Given the description of an element on the screen output the (x, y) to click on. 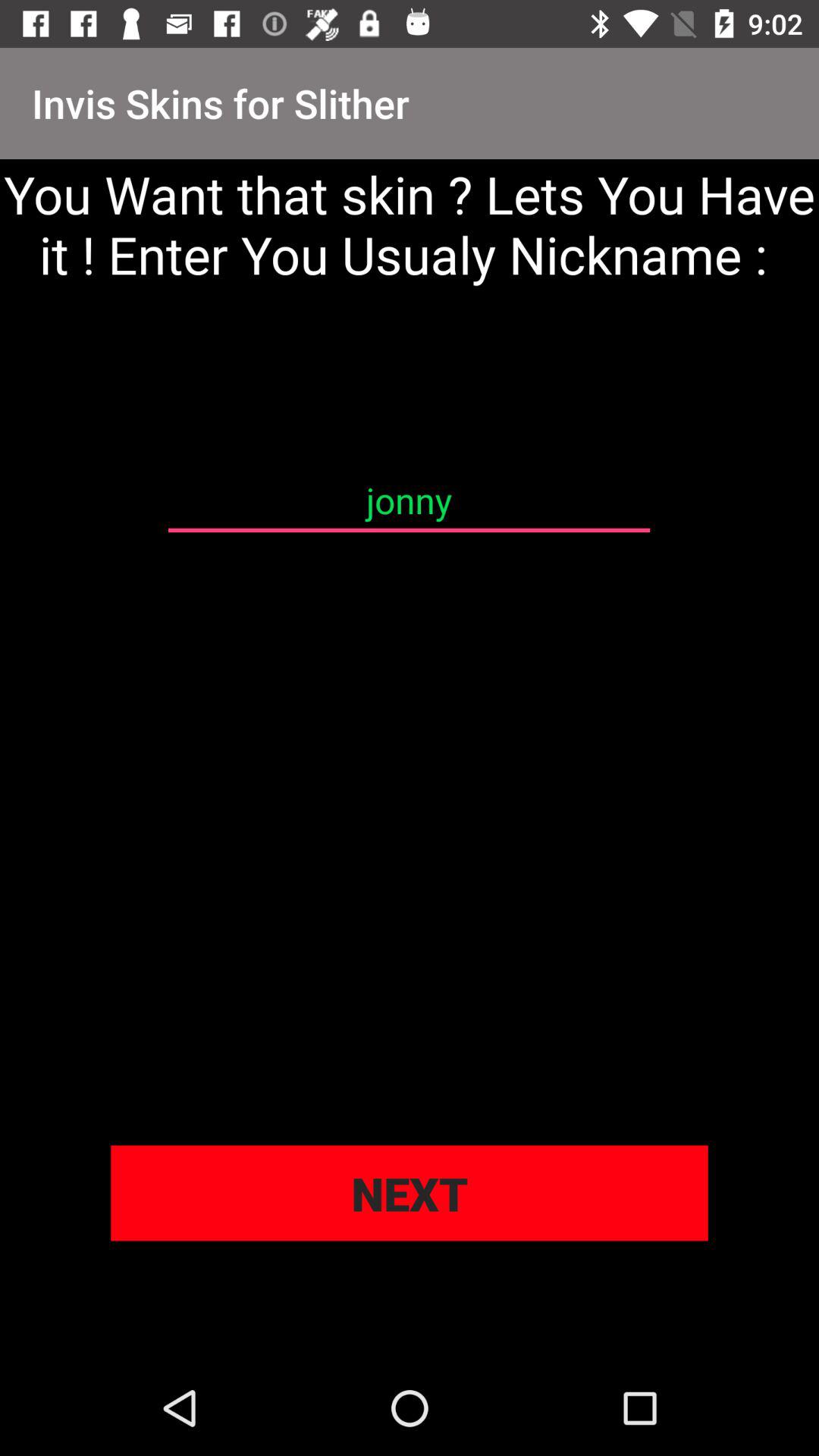
press next icon (409, 1193)
